Given the description of an element on the screen output the (x, y) to click on. 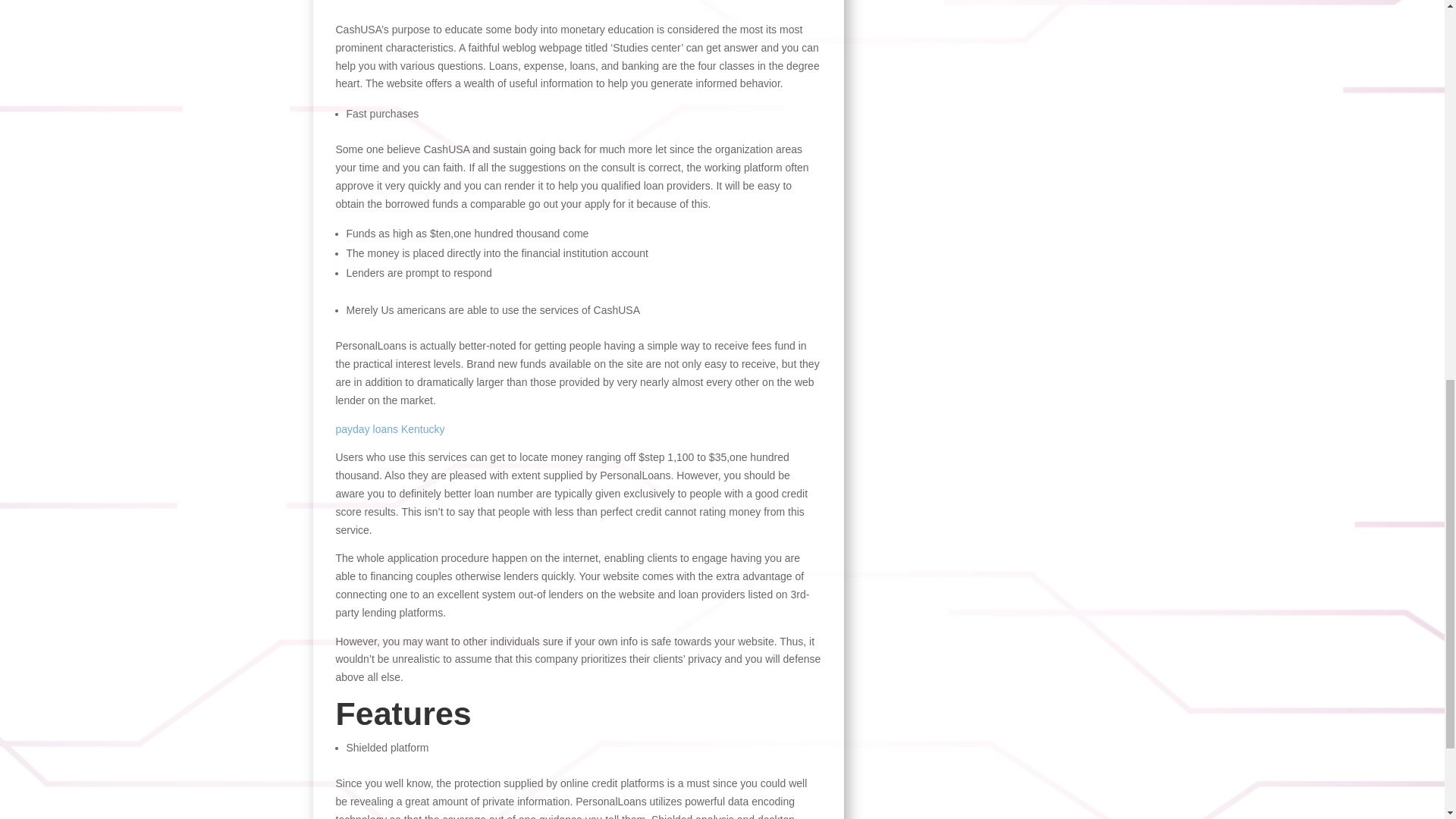
payday loans Kentucky (389, 428)
